Given the description of an element on the screen output the (x, y) to click on. 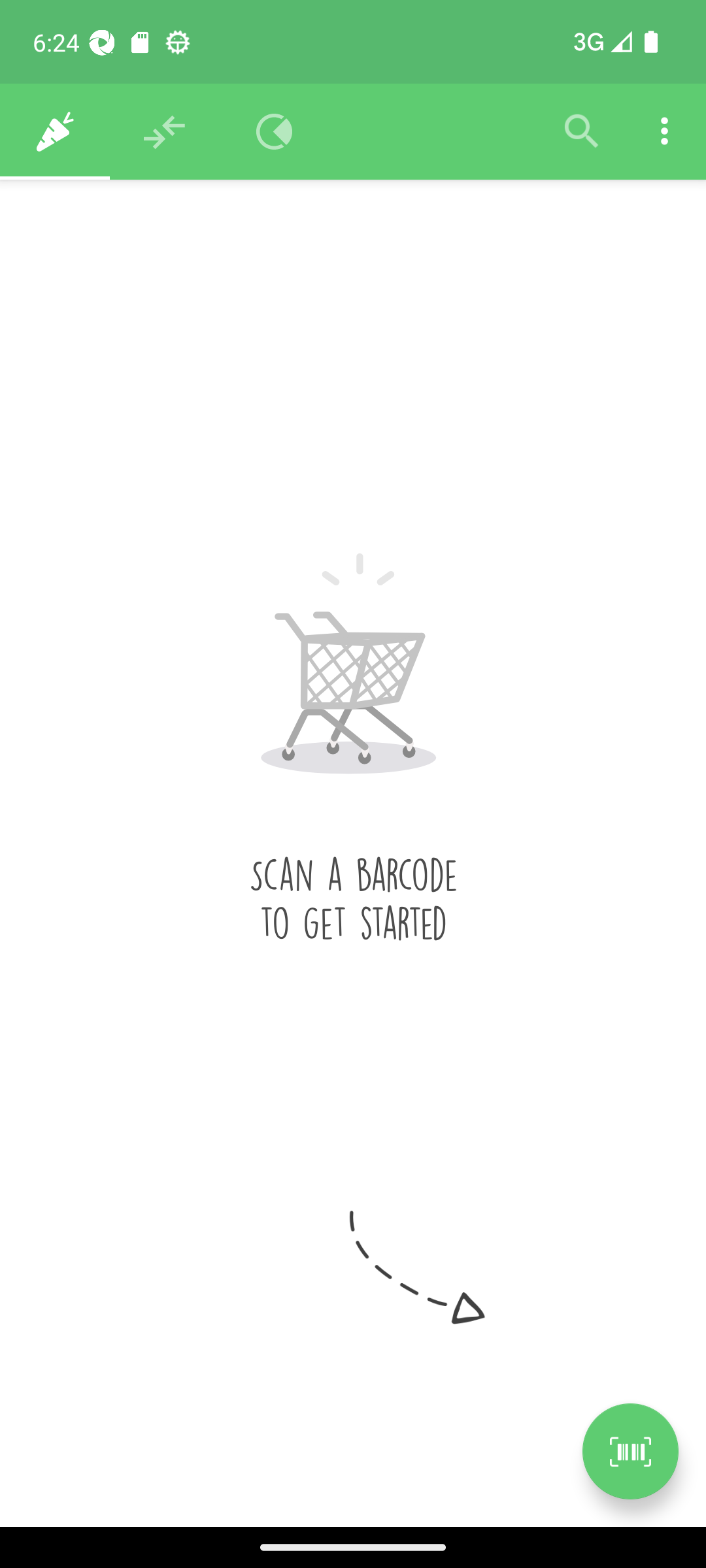
Recommendations (164, 131)
Overview (274, 131)
Filter (581, 131)
Settings (664, 131)
Scan a product (630, 1451)
